Given the description of an element on the screen output the (x, y) to click on. 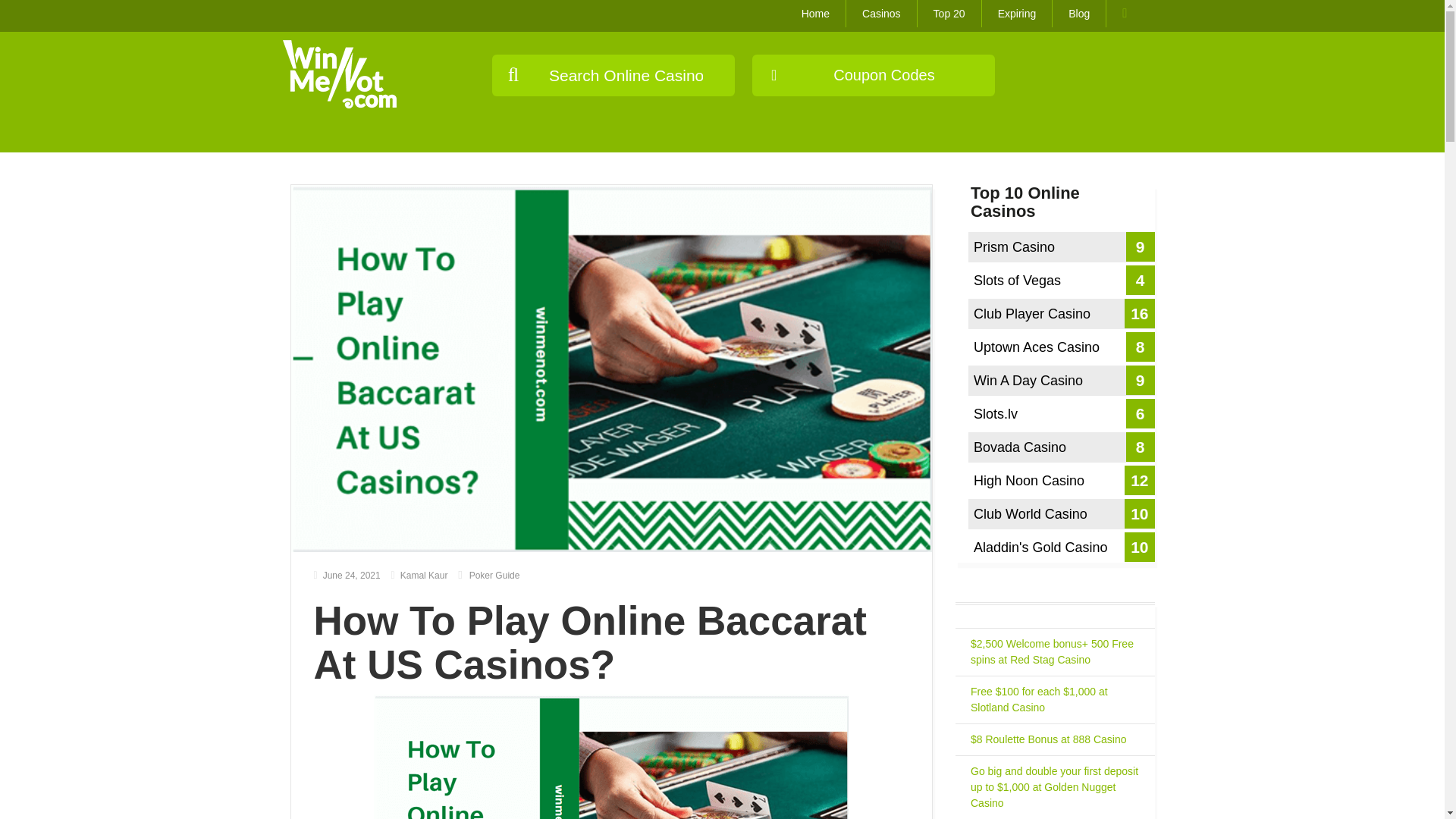
Blog (1078, 13)
Club World Casino (1061, 513)
June 24, 2021 (347, 575)
Slots.lv (1061, 413)
Bovada Casino (1061, 447)
Home (815, 13)
Top 20 (949, 13)
Expiring (1016, 13)
Aladdin's Gold Casino (1061, 547)
